Given the description of an element on the screen output the (x, y) to click on. 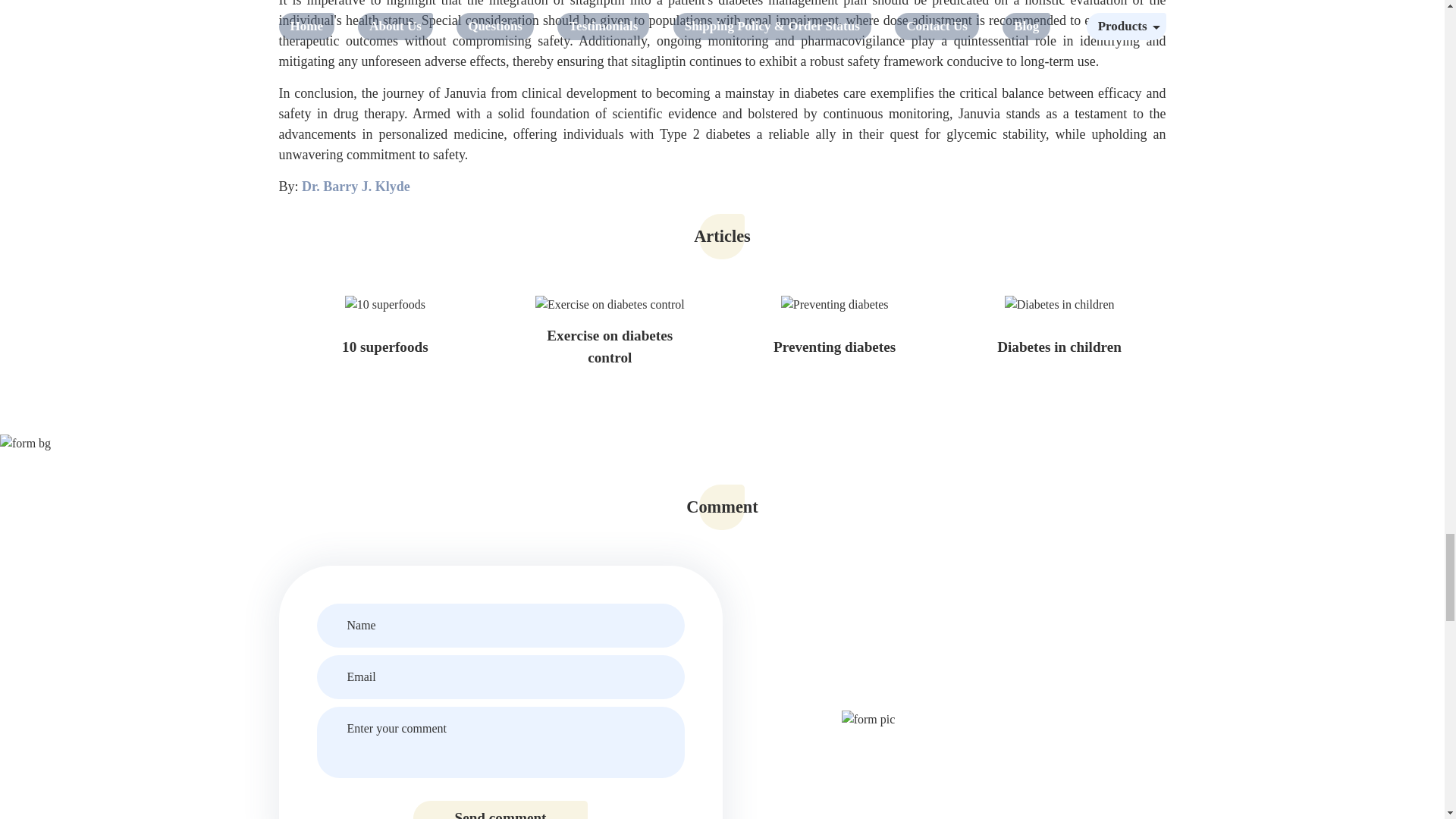
Dr. Barry J. Klyde (355, 186)
Diabetes in children (1059, 347)
10 superfoods (384, 347)
Exercise on diabetes control (609, 346)
Preventing diabetes (834, 347)
Send comment (500, 809)
